Given the description of an element on the screen output the (x, y) to click on. 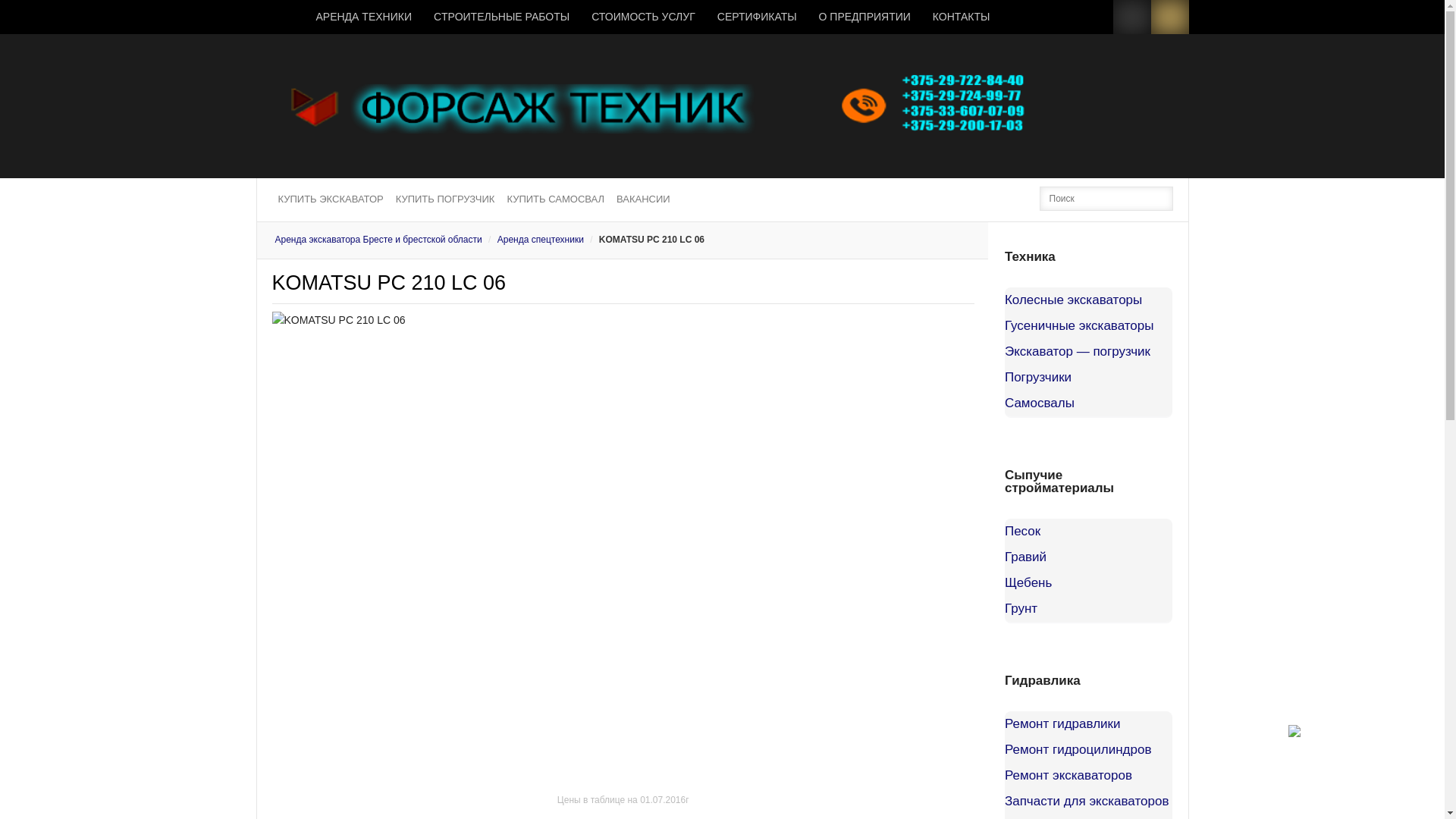
Login Element type: text (1132, 17)
News Element type: text (280, 17)
RSS Element type: text (1170, 17)
Log In Element type: text (764, 194)
